Given the description of an element on the screen output the (x, y) to click on. 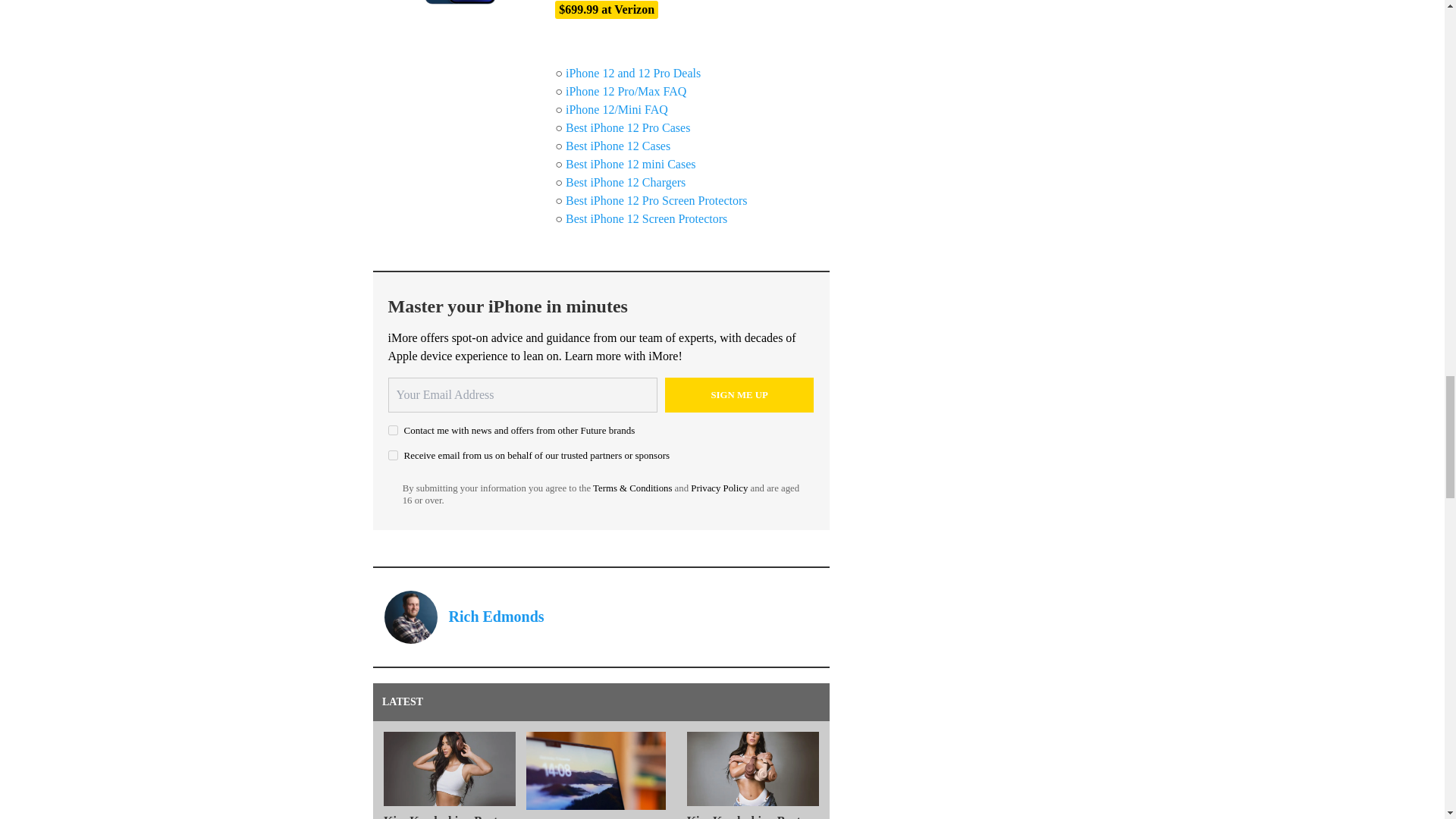
on (392, 455)
on (392, 429)
Sign me up (739, 394)
